Given the description of an element on the screen output the (x, y) to click on. 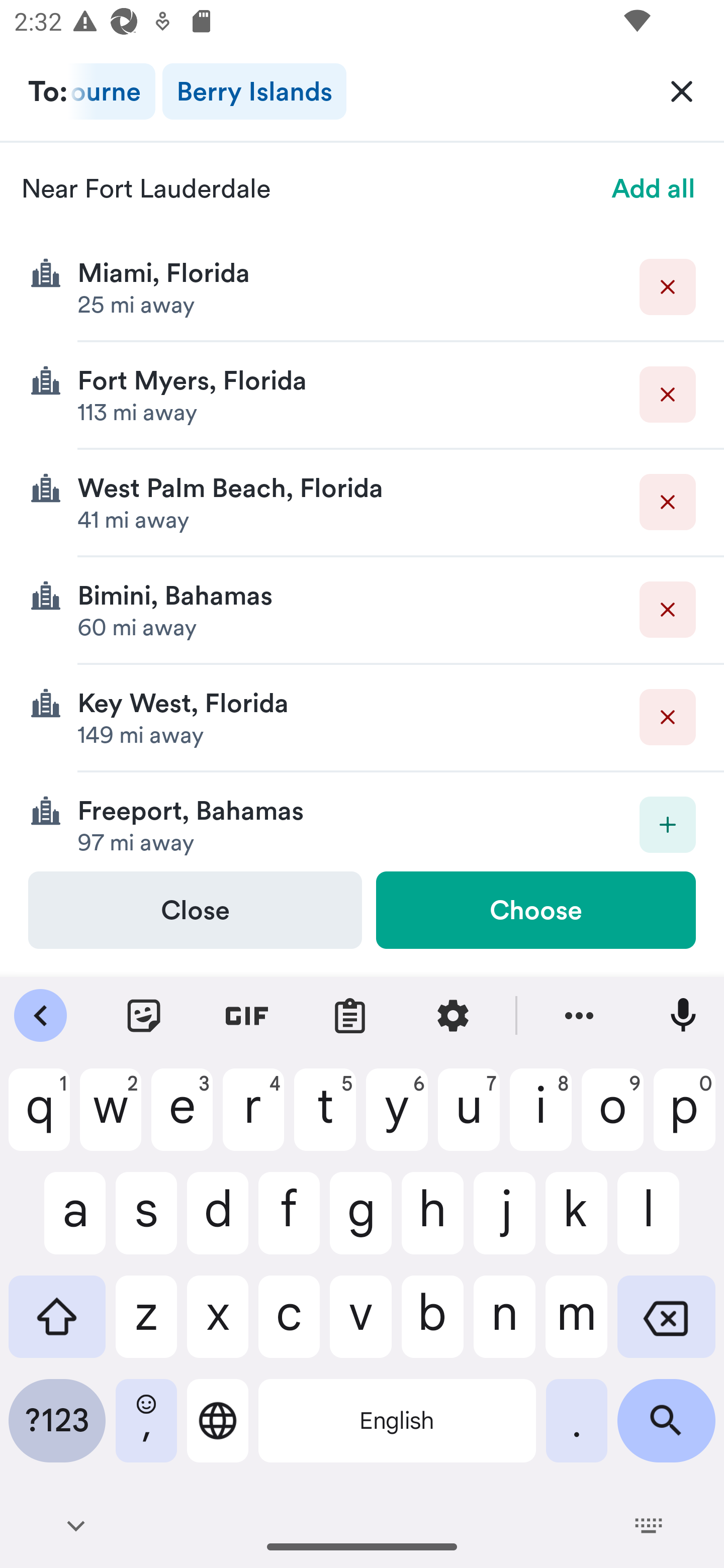
Clear All (681, 90)
Melbourne (111, 91)
Berry Islands (254, 91)
Add all (653, 187)
Delete Miami, Florida 25 mi away (362, 287)
Delete (667, 286)
Delete Fort Myers, Florida 113 mi away (362, 395)
Delete (667, 394)
Delete West Palm Beach, Florida 41 mi away (362, 503)
Delete (667, 501)
Delete Bimini, Bahamas 60 mi away (362, 610)
Delete (667, 609)
Delete Key West, Florida 149 mi away (362, 717)
Delete (667, 716)
Add destination Freeport, Bahamas 97 mi away (362, 821)
Add destination (667, 824)
Close (195, 909)
Choose (535, 909)
